Given the description of an element on the screen output the (x, y) to click on. 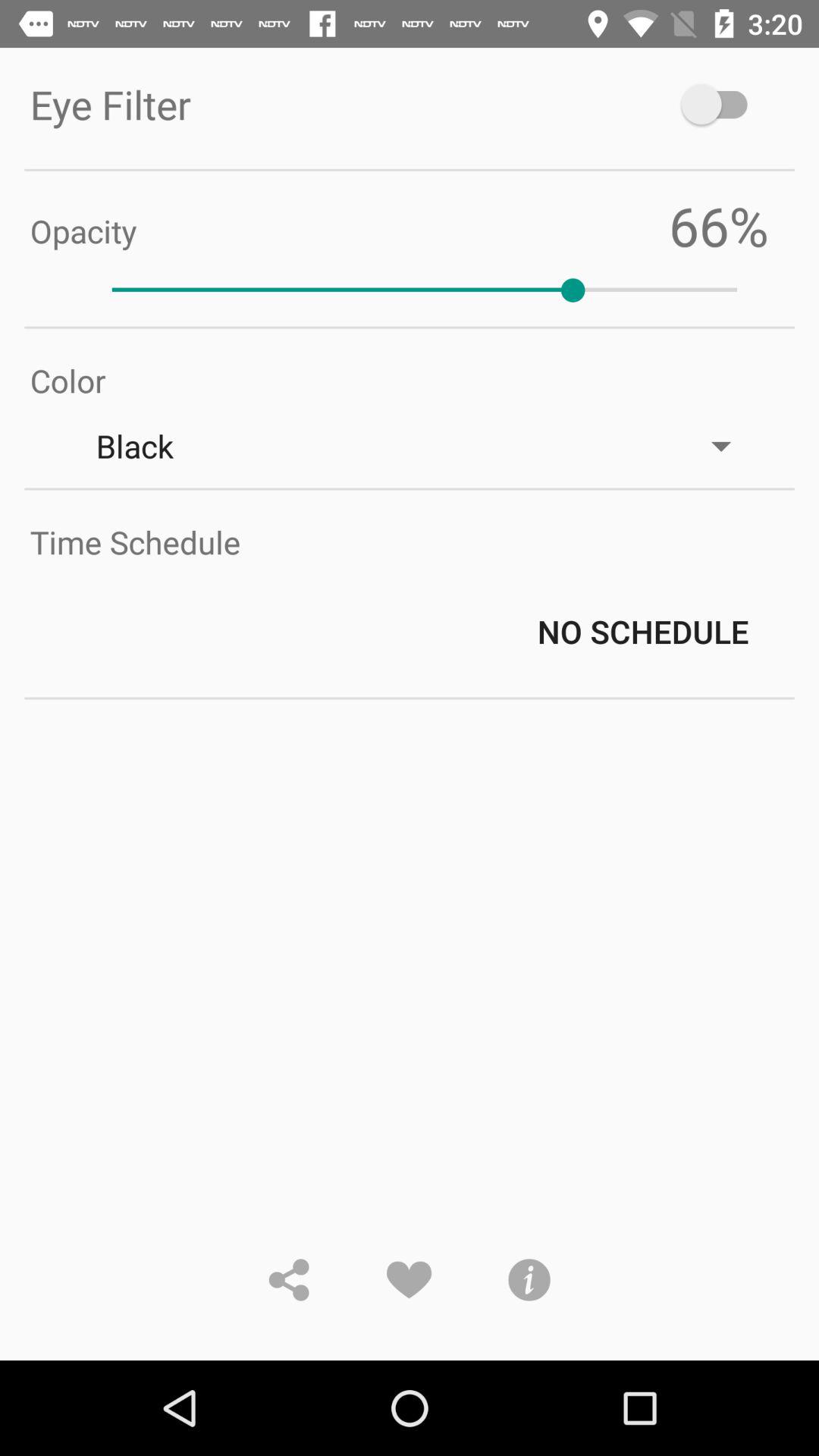
select the item at the top right corner (721, 104)
